Given the description of an element on the screen output the (x, y) to click on. 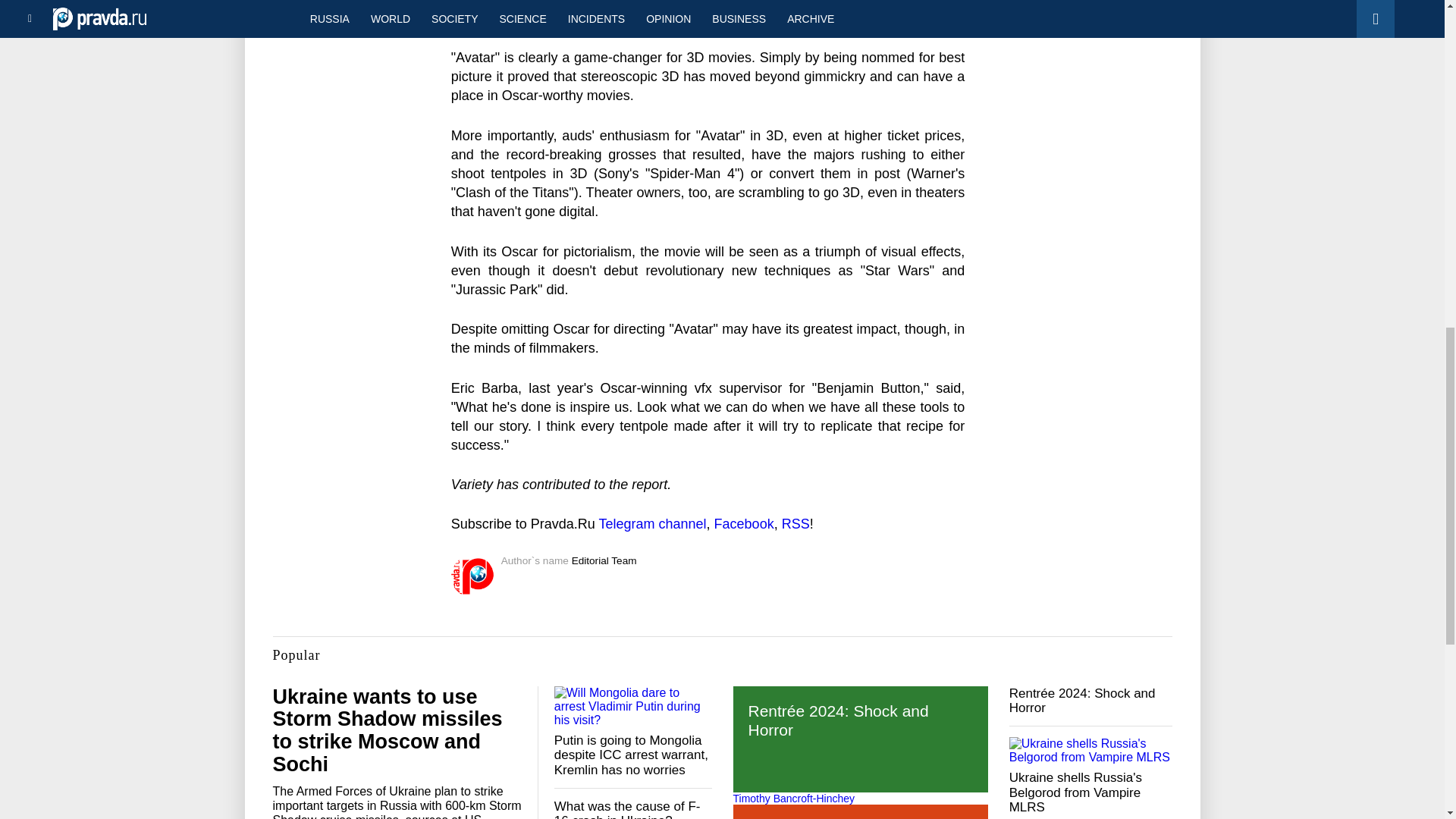
RSS (795, 523)
Telegram channel (652, 523)
Editorial Team (604, 560)
Facebook (744, 523)
Back to top (1418, 79)
